Given the description of an element on the screen output the (x, y) to click on. 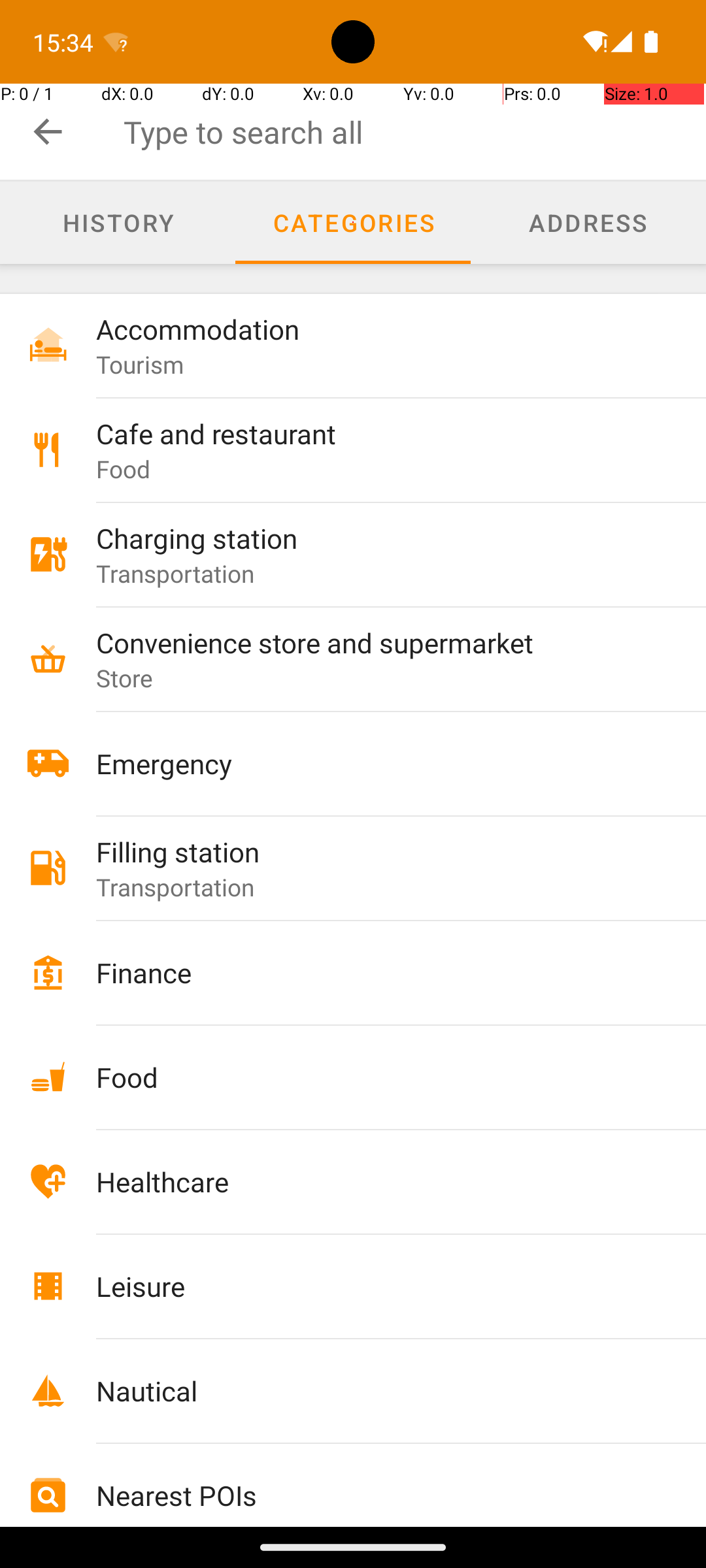
Accommodation Element type: android.widget.TextView (373, 328)
Tourism Element type: android.widget.TextView (140, 363)
Cafe and restaurant Element type: android.widget.TextView (373, 433)
Charging station Element type: android.widget.TextView (373, 537)
Convenience store and supermarket Element type: android.widget.TextView (373, 642)
Store Element type: android.widget.TextView (124, 677)
Emergency Element type: android.widget.TextView (373, 763)
Filling station Element type: android.widget.TextView (373, 851)
Healthcare Element type: android.widget.TextView (373, 1181)
Leisure Element type: android.widget.TextView (373, 1285)
Nautical Element type: android.widget.TextView (373, 1390)
Nearest POIs Element type: android.widget.TextView (373, 1494)
